Given the description of an element on the screen output the (x, y) to click on. 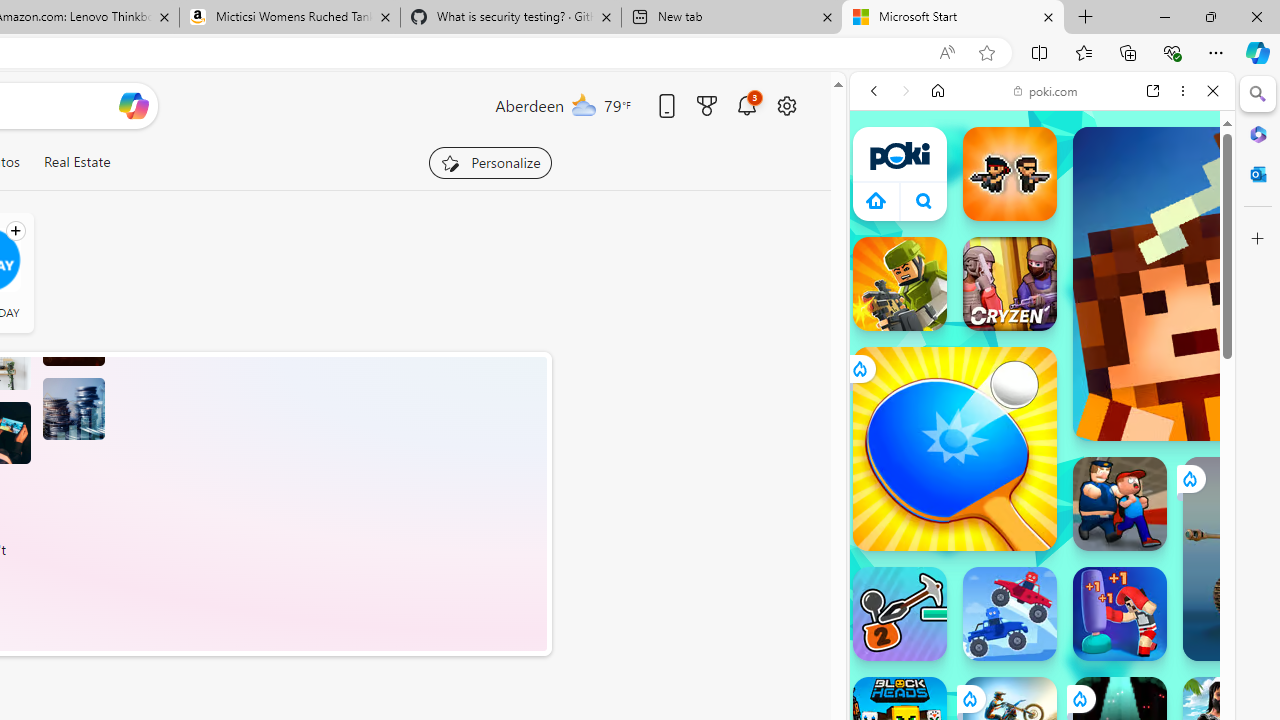
Class: aprWdaSScyiJf4Jvmsx9 (875, 200)
